Given the description of an element on the screen output the (x, y) to click on. 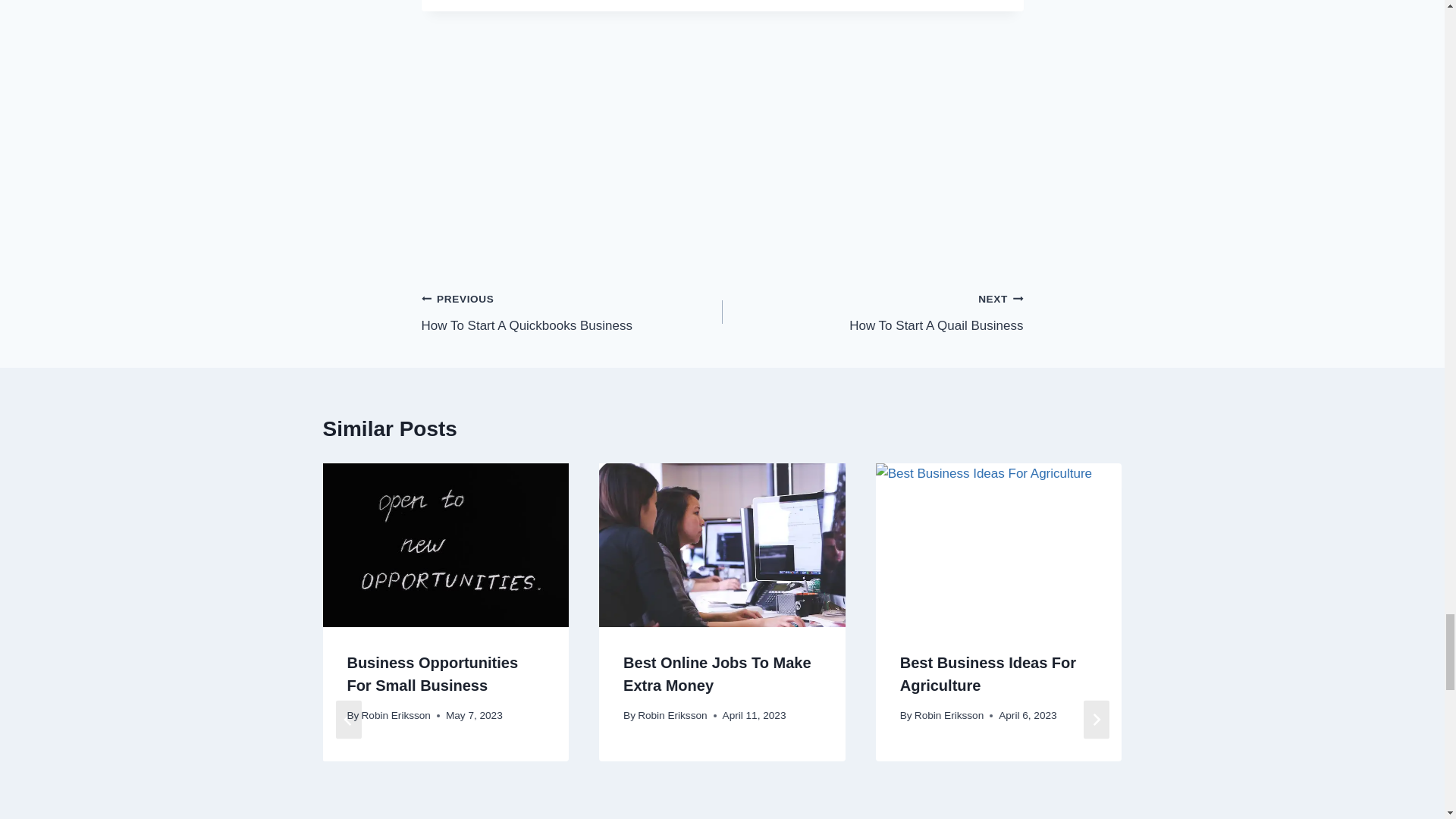
Best Online Jobs To Make Extra Money 5 (721, 545)
Best Business Ideas For Agriculture 7 (572, 311)
Business Opportunities For Small Business 3 (999, 545)
